Given the description of an element on the screen output the (x, y) to click on. 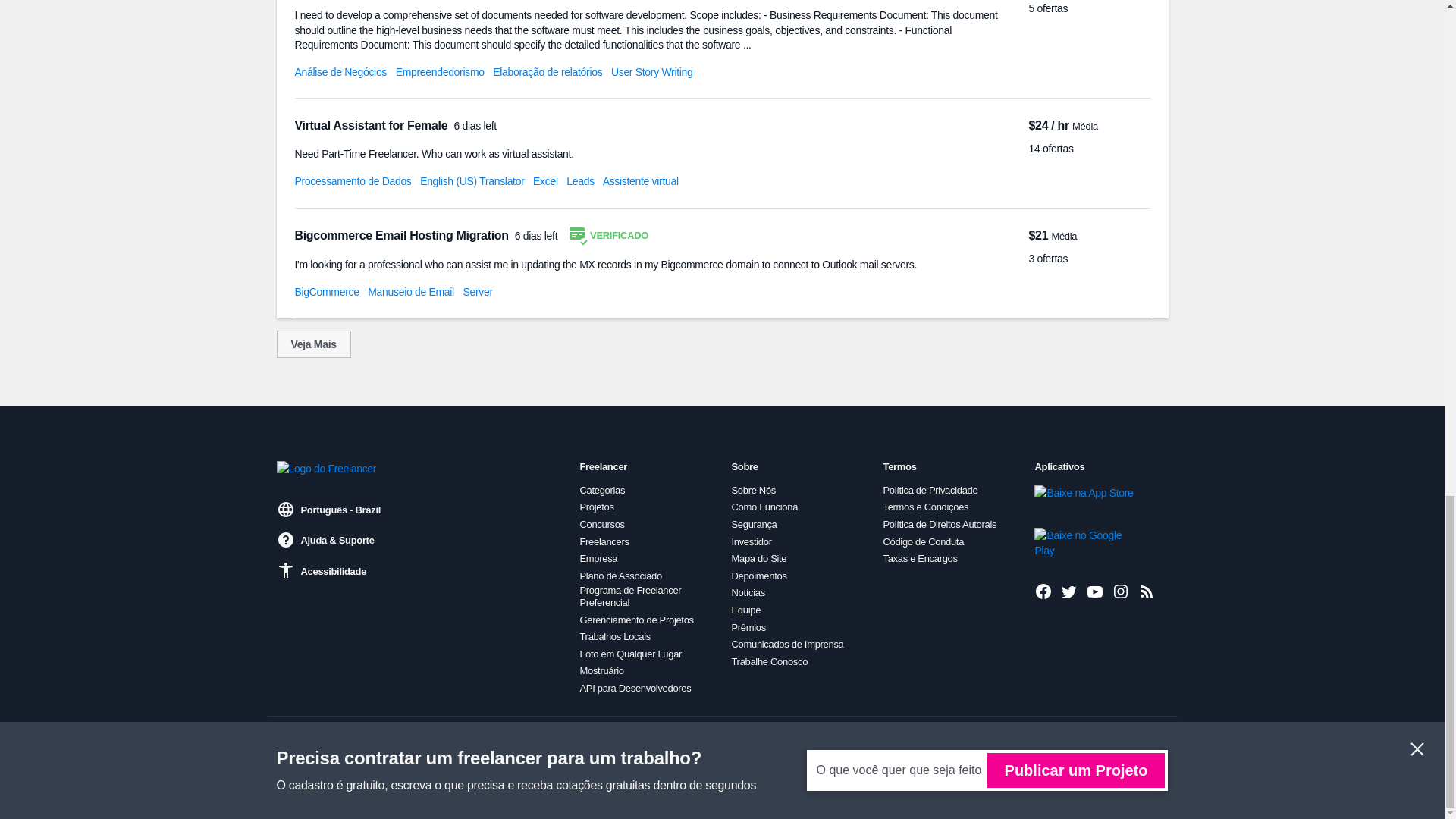
Baixar da App Store (1085, 500)
Obter no Google Play (1085, 542)
Freelancer no Twitter (1068, 591)
Freelancer no Facebook (1042, 591)
Projetos mais Recentes (1146, 591)
Freelancer no Youtube (1094, 591)
Freelancer no Instagram (1120, 591)
